Given the description of an element on the screen output the (x, y) to click on. 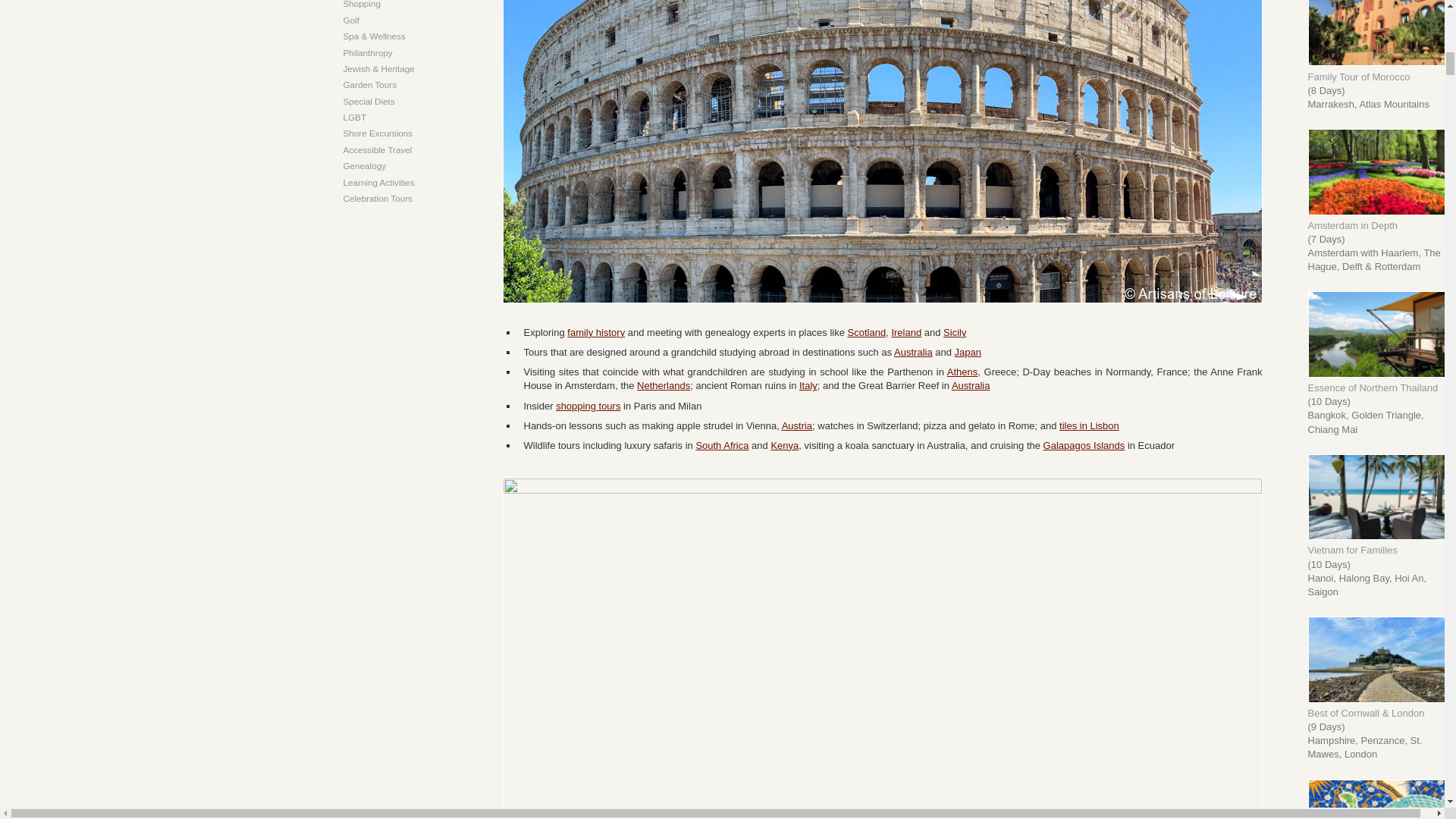
Vietnam for Families (1381, 536)
Family Tour of Morocco (1381, 61)
Essence of Northern Thailand (1381, 374)
Amsterdam in Depth (1381, 211)
